Given the description of an element on the screen output the (x, y) to click on. 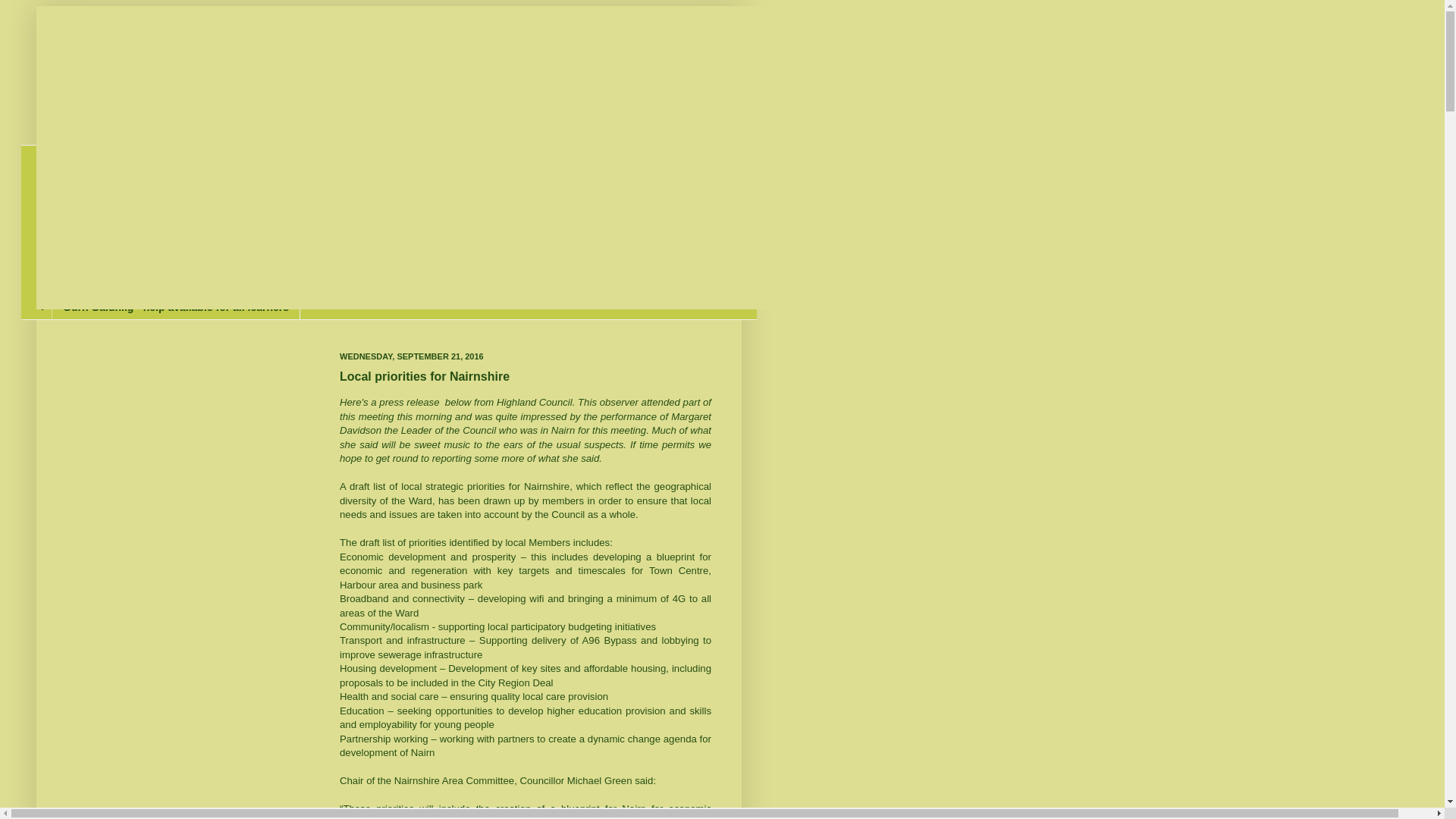
Gurn Youtube (97, 207)
NAS Orchard Group (113, 282)
Gurn Twitter (93, 181)
Gurn Flickr (90, 232)
News (75, 157)
Apples - Let's grow some in Nairnshire! - Orchard ... (193, 257)
